Given the description of an element on the screen output the (x, y) to click on. 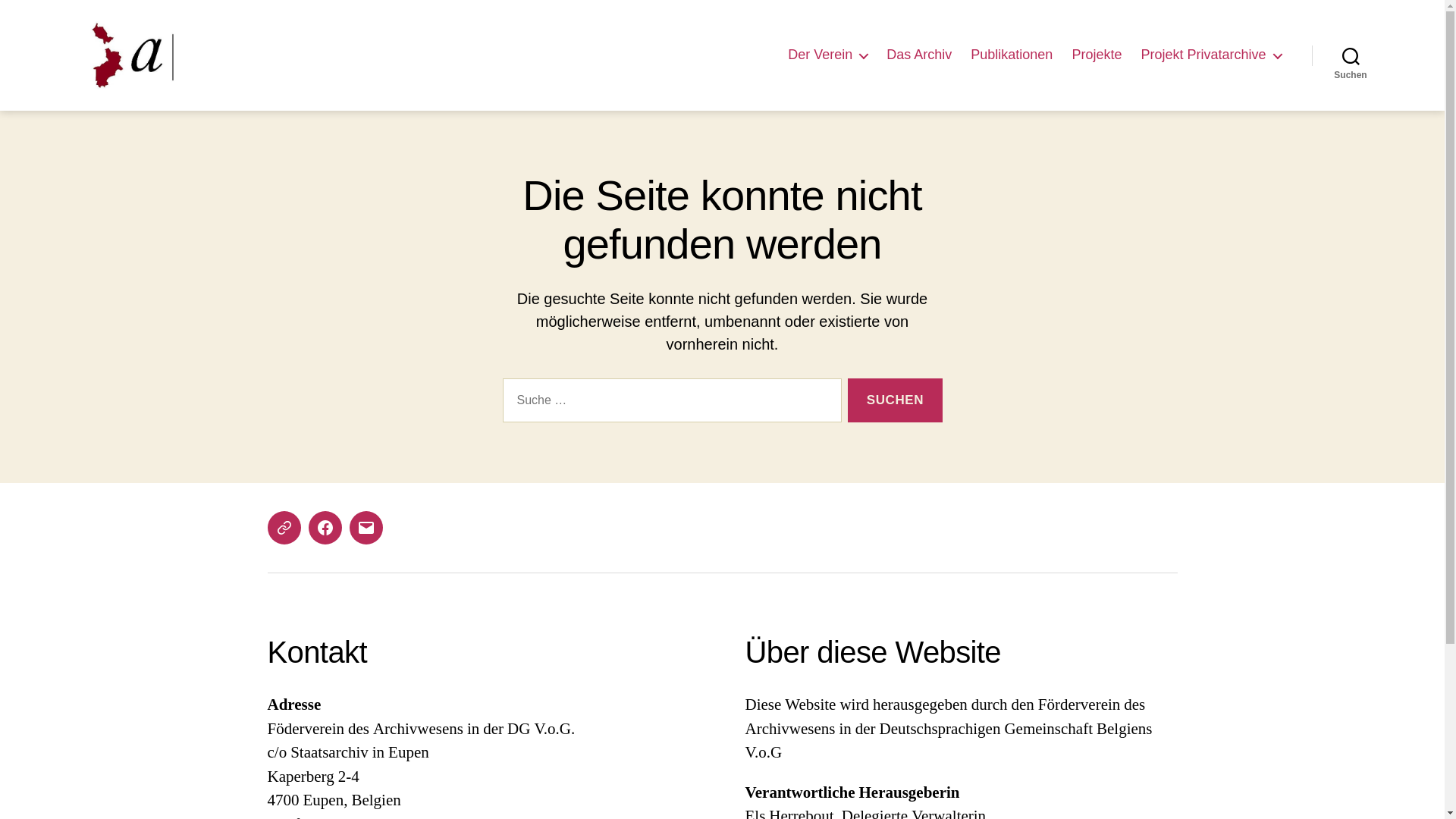
Suchen Element type: text (1350, 55)
Projekte Element type: text (1096, 55)
Publikationen Element type: text (1011, 55)
Facebook Element type: text (324, 527)
Das Archiv Element type: text (918, 55)
Der Verein Element type: text (827, 55)
Suchen Element type: text (894, 400)
Projekt Privatarchive Element type: text (1210, 55)
Staatsarchiv Eupen Element type: text (283, 527)
E-Mail Element type: text (365, 527)
